Given the description of an element on the screen output the (x, y) to click on. 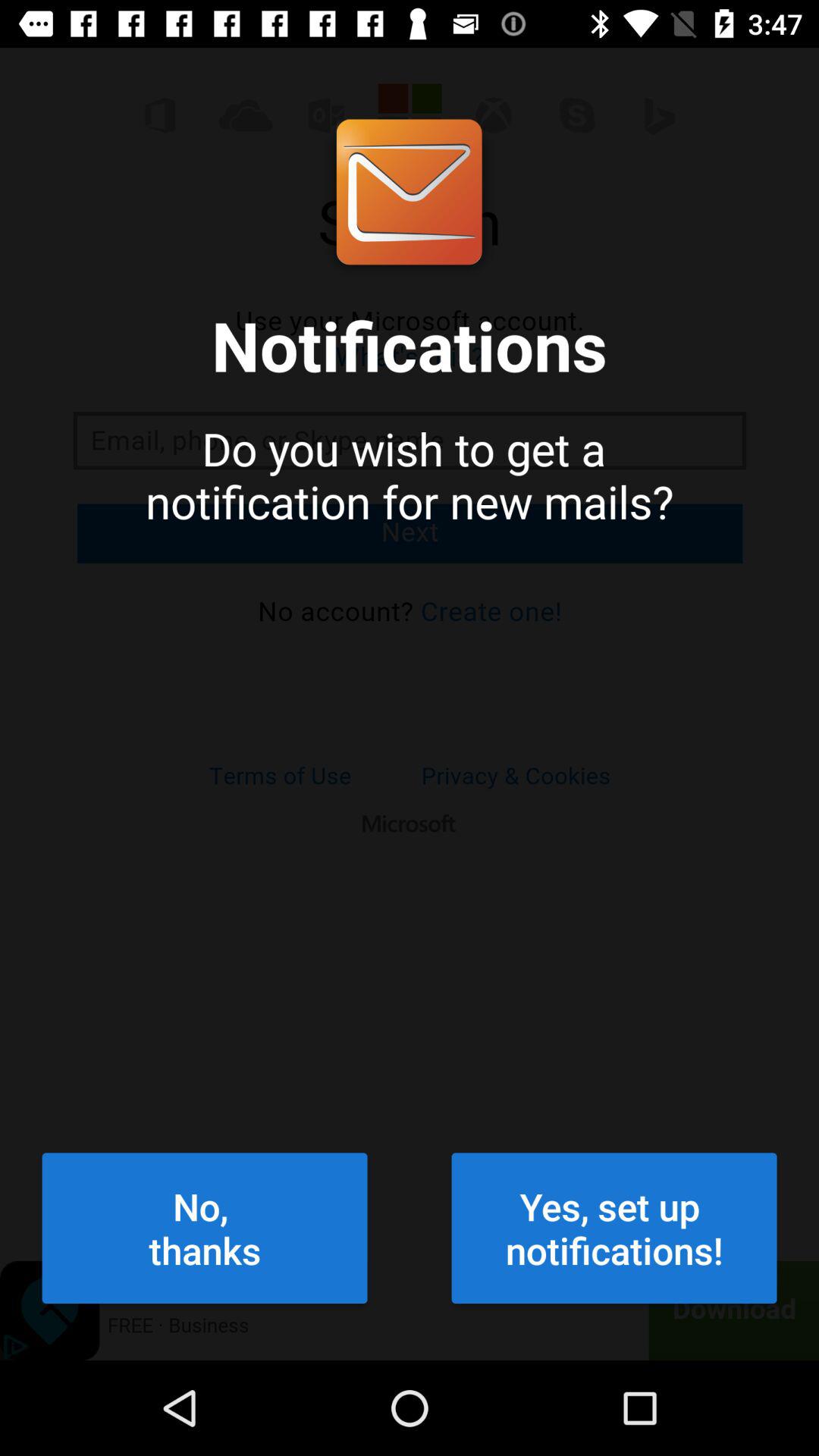
select the icon at the center (409, 653)
